Given the description of an element on the screen output the (x, y) to click on. 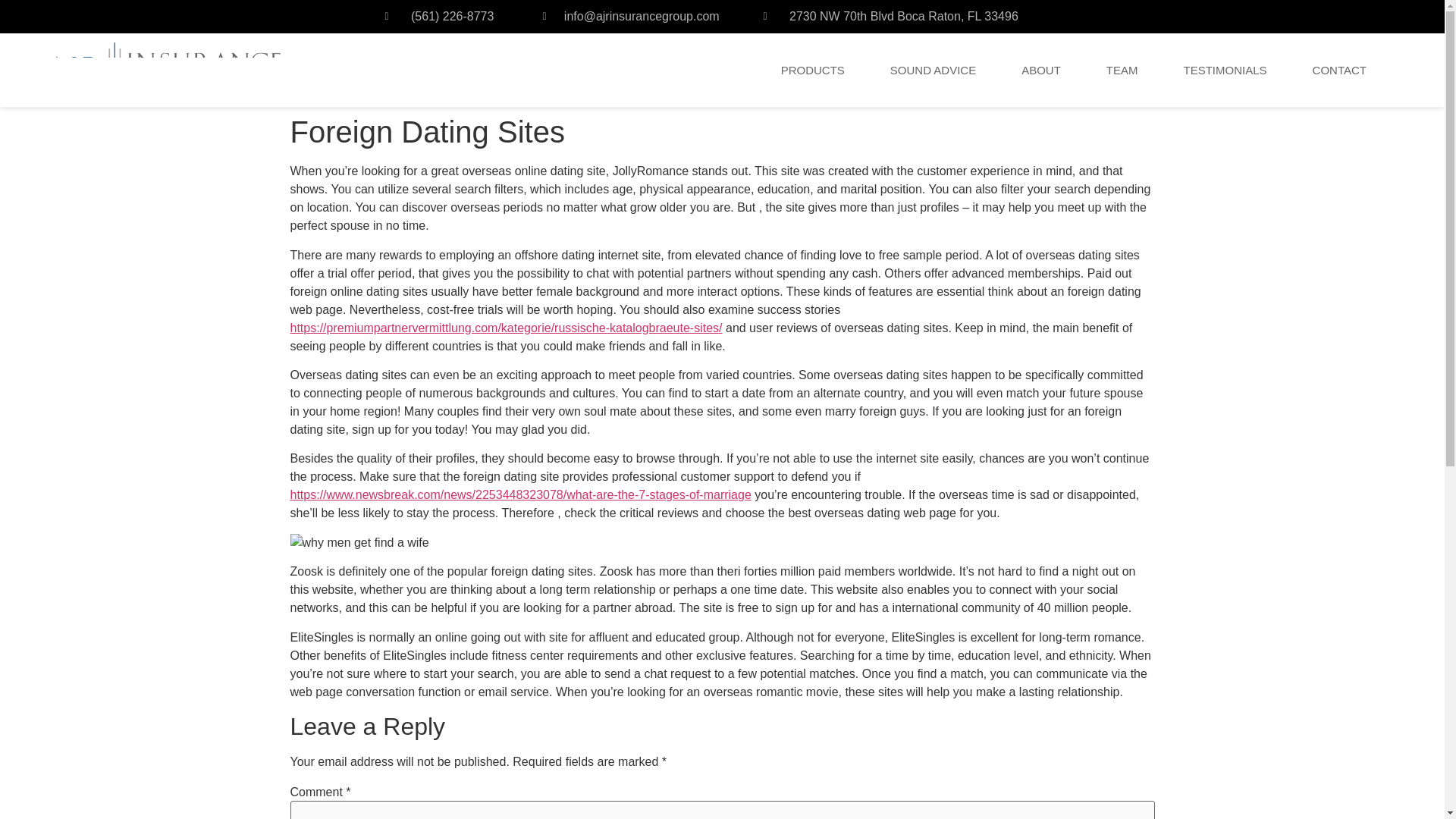
CONTACT (1339, 70)
ABOUT (1040, 70)
2730 NW 70th Blvd Boca Raton, FL 33496 (910, 16)
TEAM (1121, 70)
PRODUCTS (812, 70)
SOUND ADVICE (932, 70)
TESTIMONIALS (1225, 70)
